Given the description of an element on the screen output the (x, y) to click on. 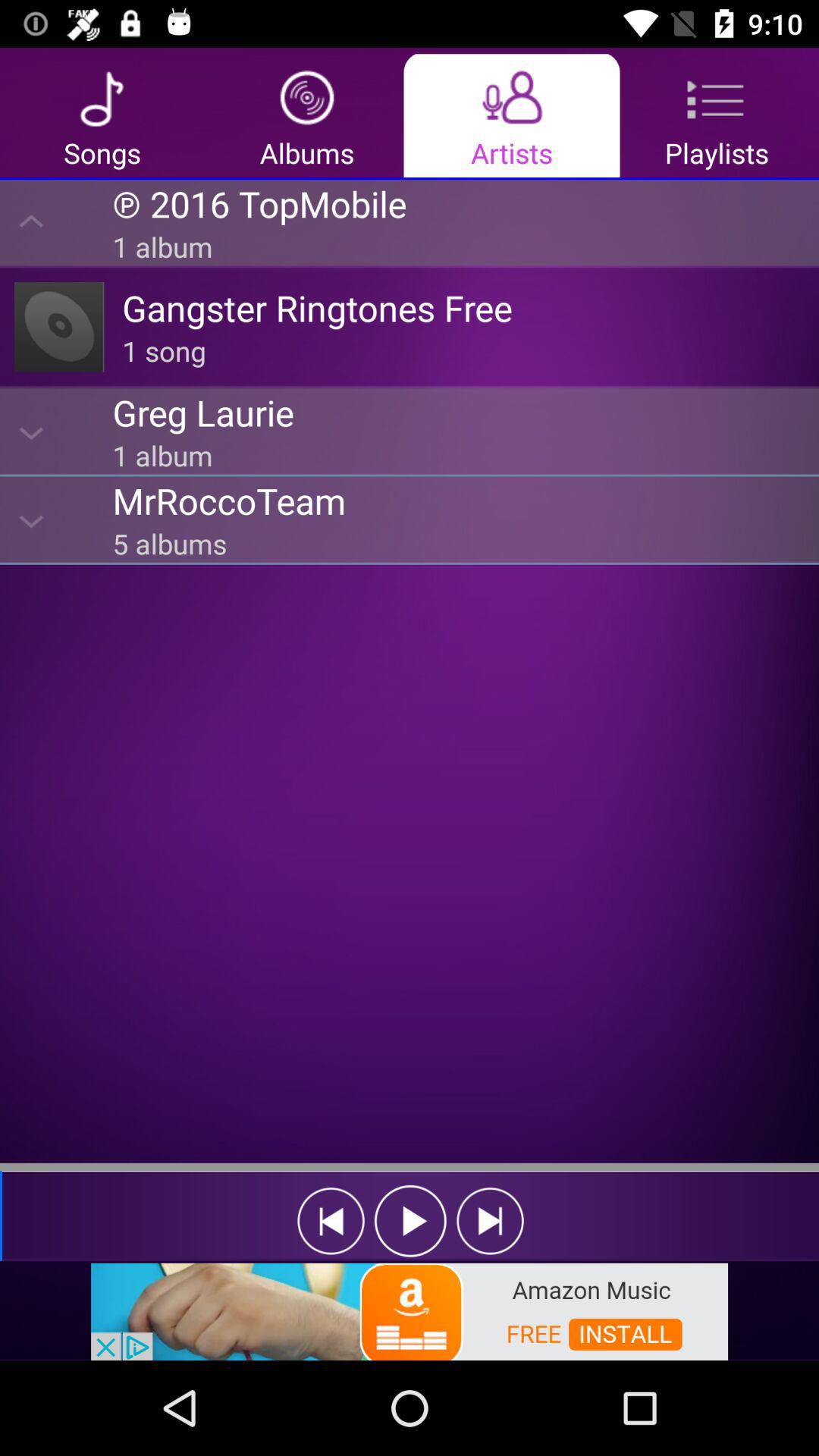
go to forwrd button (490, 1220)
